Given the description of an element on the screen output the (x, y) to click on. 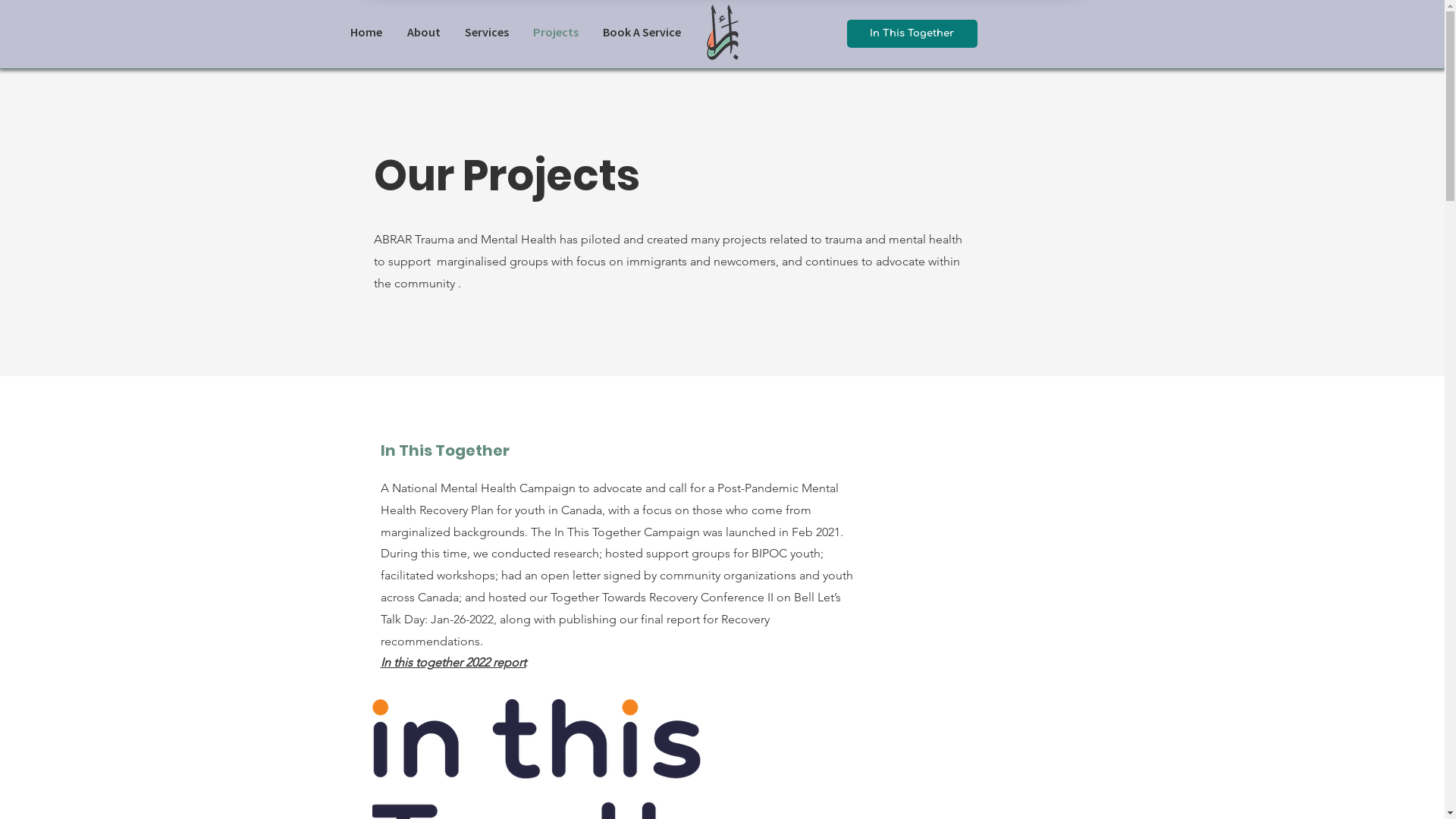
Projects Element type: text (554, 31)
In this together 2022 report Element type: text (453, 662)
In This Together Element type: text (911, 33)
Book A Service Element type: text (640, 31)
About Element type: text (422, 31)
Services Element type: text (485, 31)
Home Element type: text (366, 31)
